Given the description of an element on the screen output the (x, y) to click on. 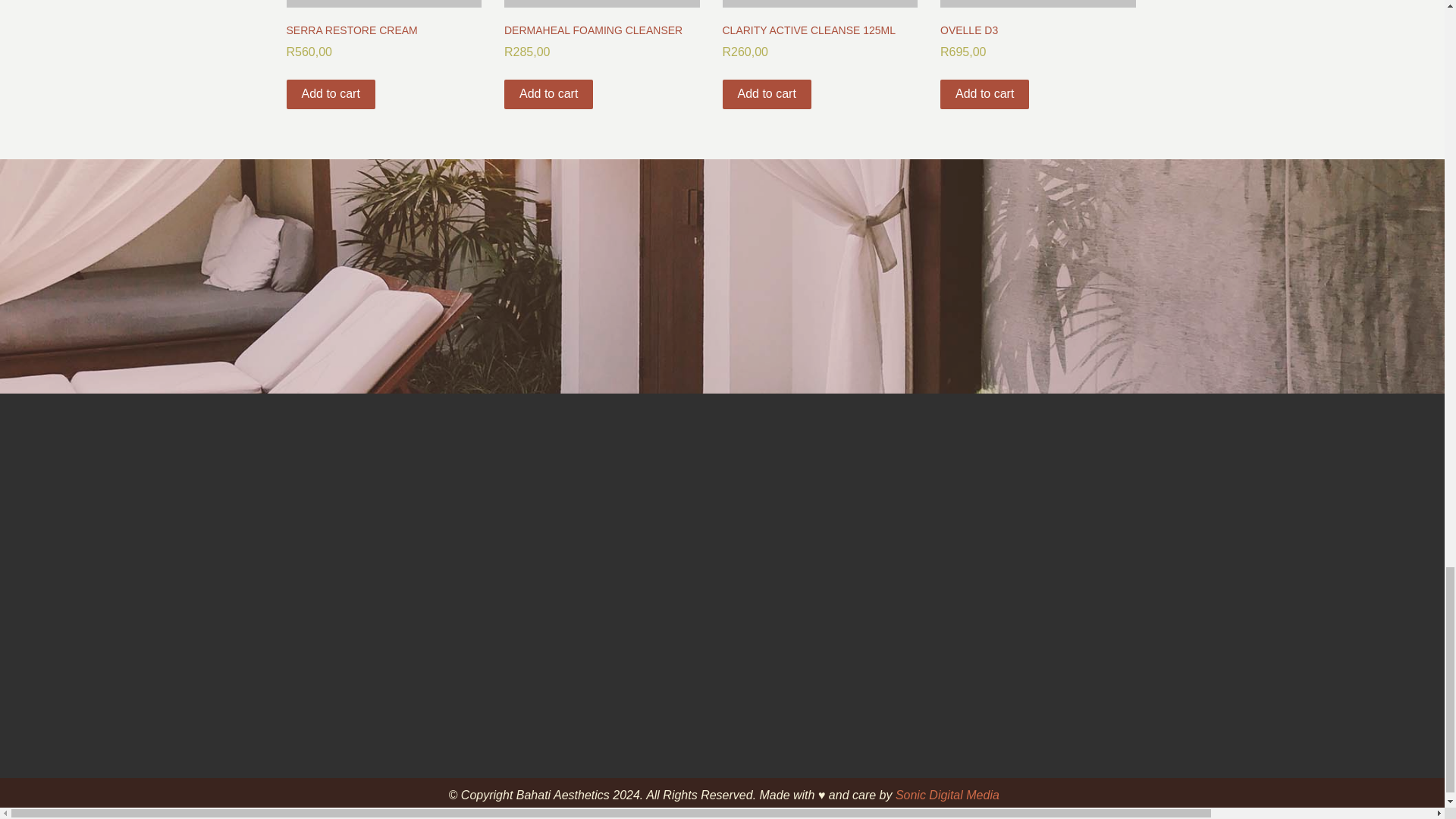
Add to cart (383, 50)
Add to cart (819, 50)
Add to cart (601, 50)
